Given the description of an element on the screen output the (x, y) to click on. 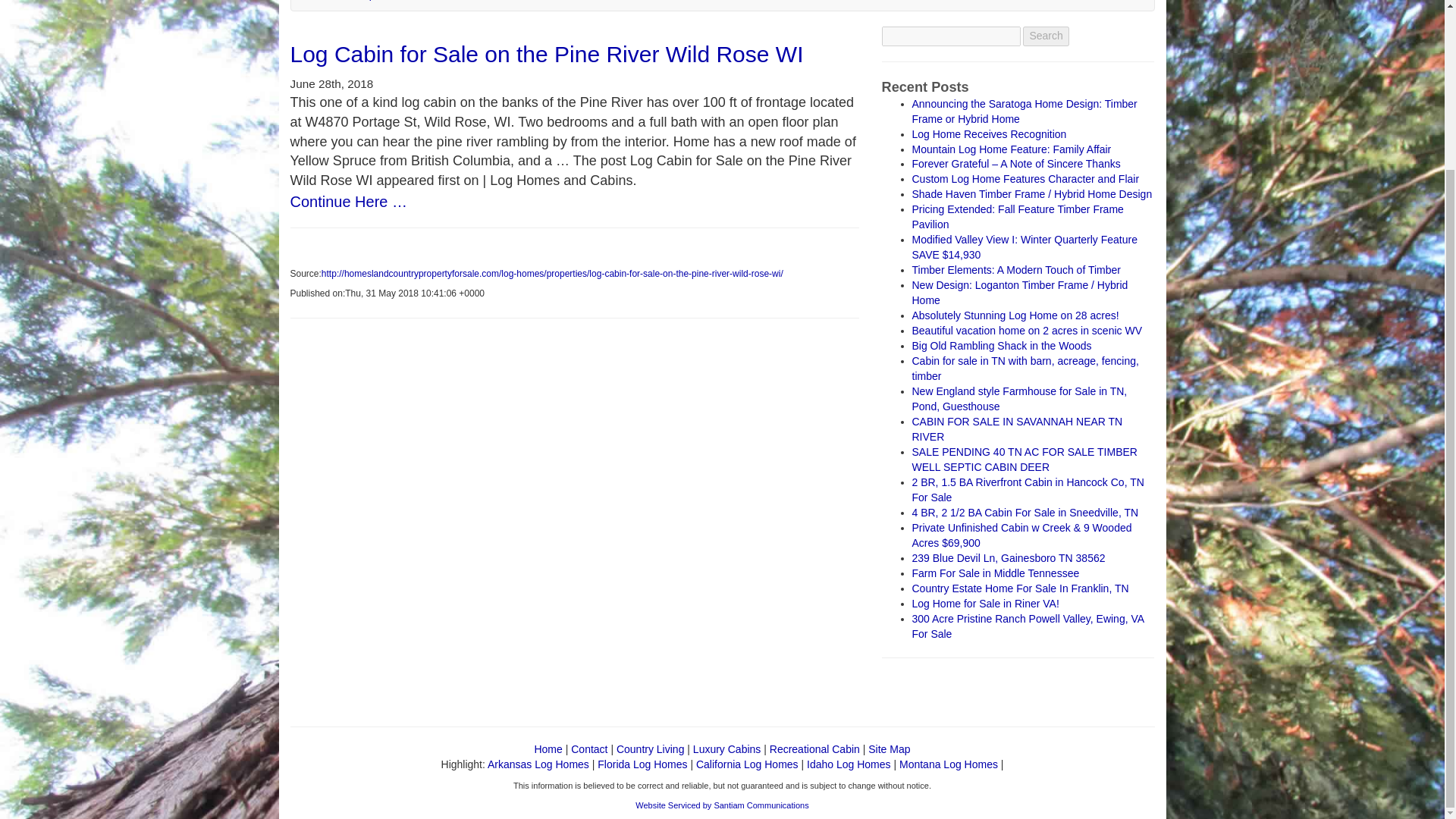
Log Cabin for Sale on the Pine River Wild Rose WI (546, 53)
239 Blue Devil Ln, Gainesboro TN 38562 (1008, 558)
Country Estate Home For Sale In Franklin, TN (1019, 588)
Big Old Rambling Shack in the Woods (1000, 345)
CABIN FOR SALE IN SAVANNAH NEAR TN RIVER (1016, 429)
SALE PENDING 40 TN AC FOR SALE TIMBER WELL SEPTIC CABIN DEER (1024, 459)
Search (1045, 35)
Log Home for Sale in Riner VA! (984, 603)
Log Cabin for Sale on the Pine River Wild Rose WI (546, 53)
2 BR, 1.5 BA Riverfront Cabin in Hancock Co, TN For Sale (1026, 489)
Home (548, 748)
Timber Elements: A Modern Touch of Timber (1015, 269)
Search (1045, 35)
Log Home Receives Recognition (988, 133)
